Given the description of an element on the screen output the (x, y) to click on. 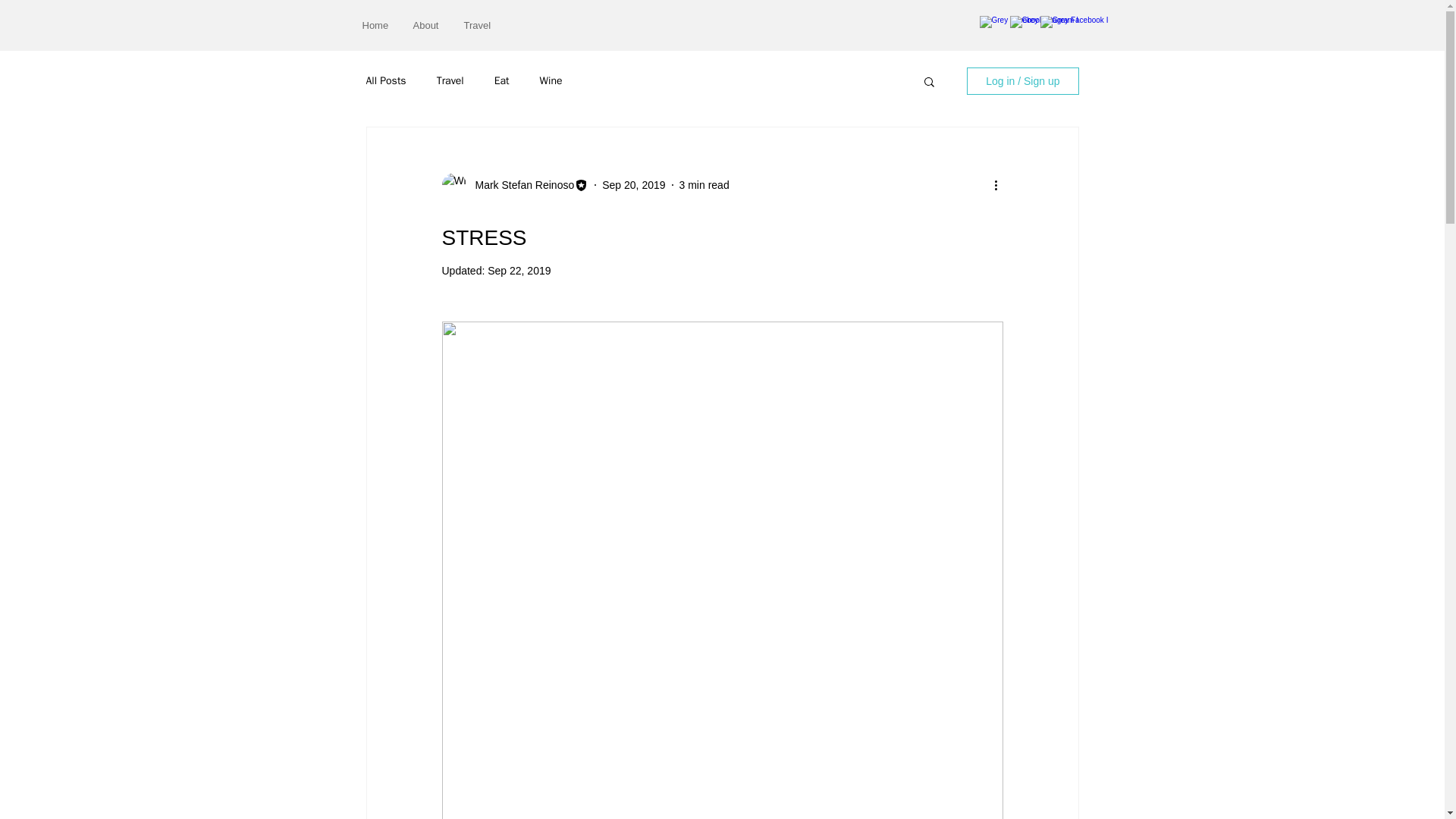
Mark Stefan Reinoso (519, 185)
Wine (551, 80)
About (426, 25)
Eat (502, 80)
Sep 22, 2019 (518, 270)
3 min read (704, 184)
Home (375, 25)
Travel (475, 25)
Travel (450, 80)
All Posts (385, 80)
